Given the description of an element on the screen output the (x, y) to click on. 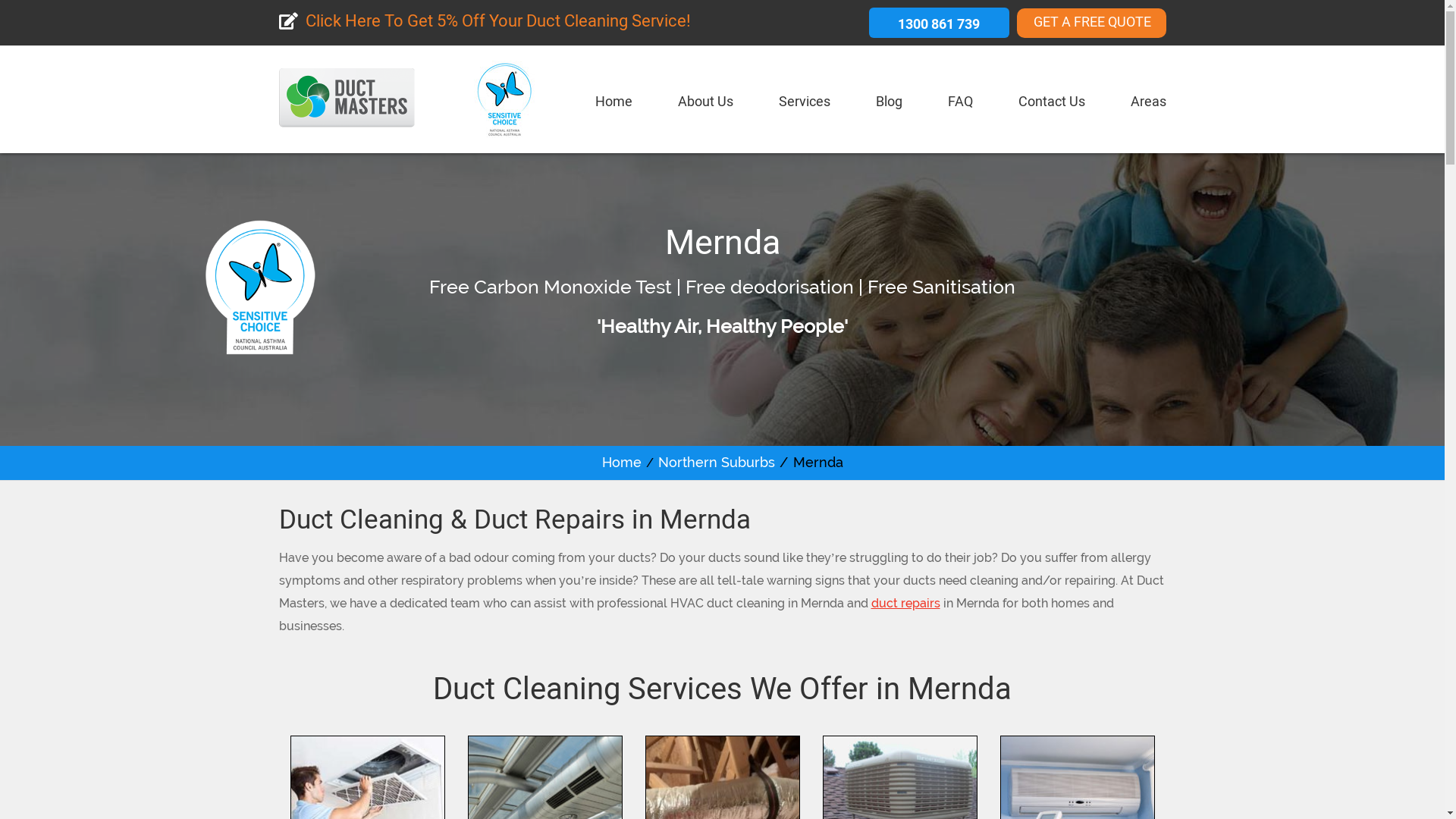
GET A FREE QUOTE Element type: text (1090, 22)
About Us Element type: text (705, 106)
FAQ Element type: text (959, 106)
Duct Masters Element type: hover (346, 115)
duct repairs Element type: text (904, 603)
Services Element type: text (803, 106)
Click Here To Get 5% Off Your Duct Cleaning Service! Element type: text (484, 22)
Contact Us Element type: text (1050, 106)
Home Element type: text (612, 106)
Areas Element type: text (1147, 106)
Home Element type: text (621, 462)
1300 861 739 Element type: text (939, 22)
Blog Element type: text (888, 106)
Northern Suburbs Element type: text (716, 462)
